Given the description of an element on the screen output the (x, y) to click on. 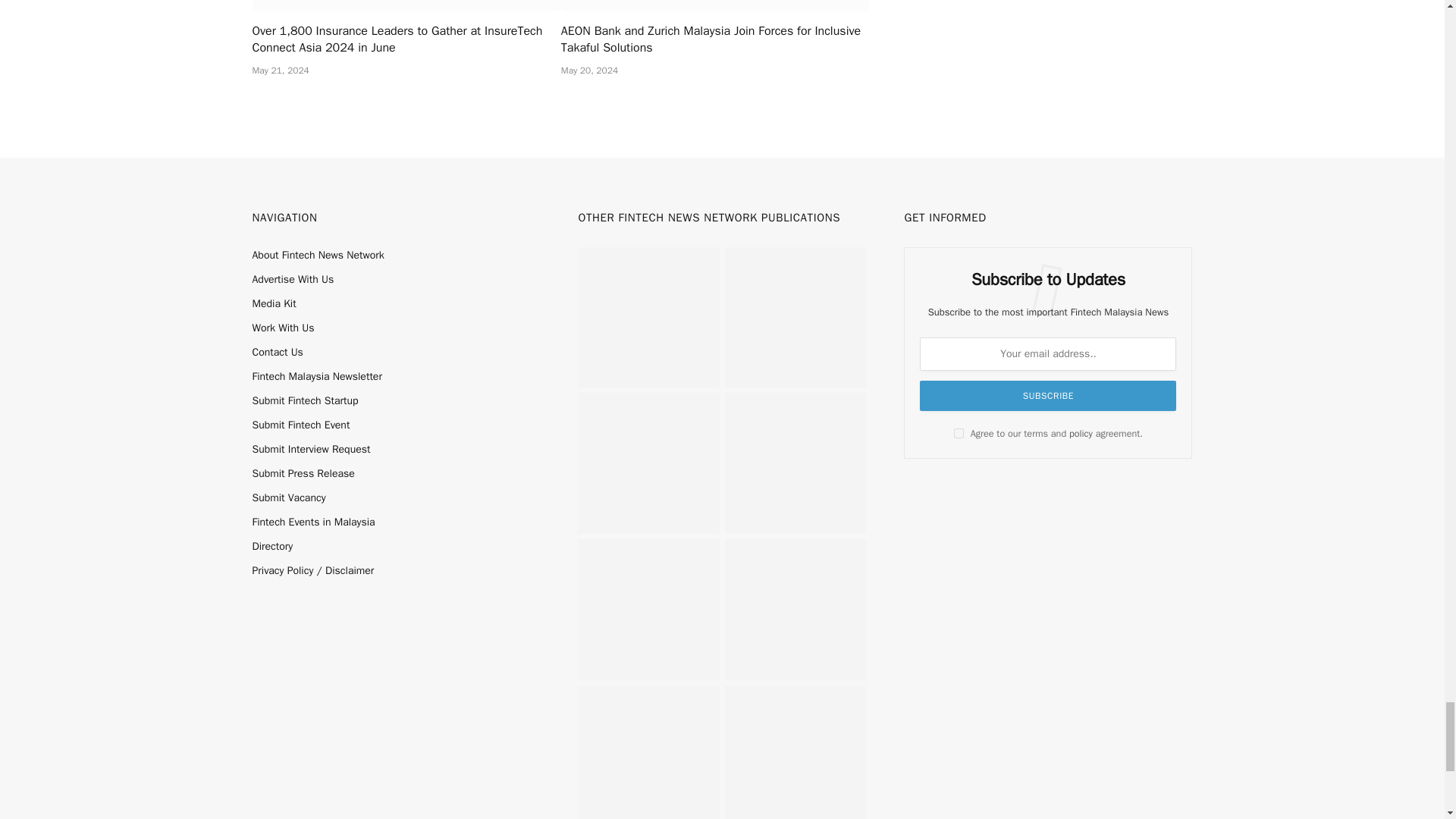
on (958, 433)
Subscribe (1048, 395)
